Given the description of an element on the screen output the (x, y) to click on. 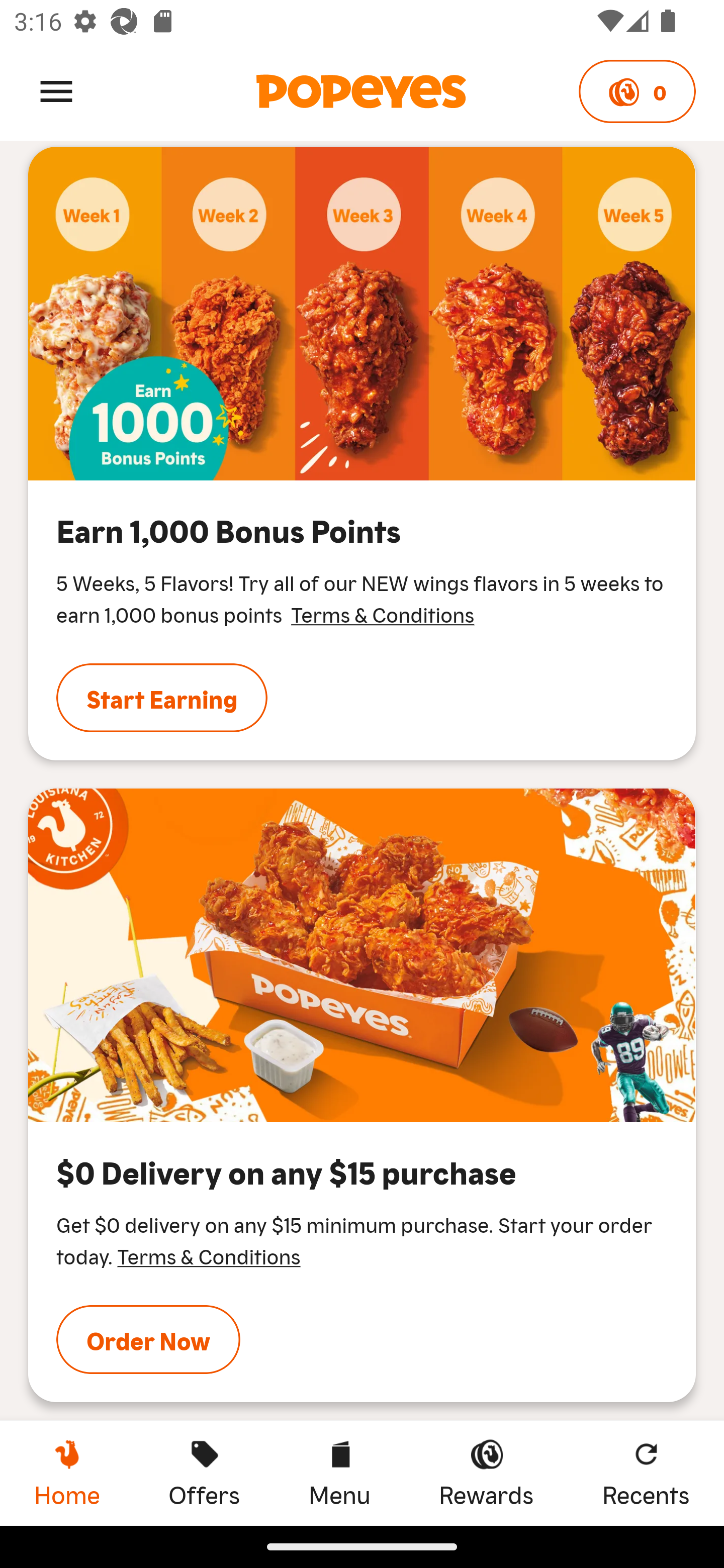
Menu  (56, 90)
0 Points 0 (636, 91)
Earn 1,000 Bonus Points (361, 313)
Start Earning (161, 697)
Popeyes Wings (361, 955)
Order Now (148, 1338)
Home, current page Home Home, current page (66, 1472)
Offers Offers Offers (203, 1472)
Menu Menu Menu (339, 1472)
Rewards Rewards Rewards (486, 1472)
Recents Recents Recents (646, 1472)
